Given the description of an element on the screen output the (x, y) to click on. 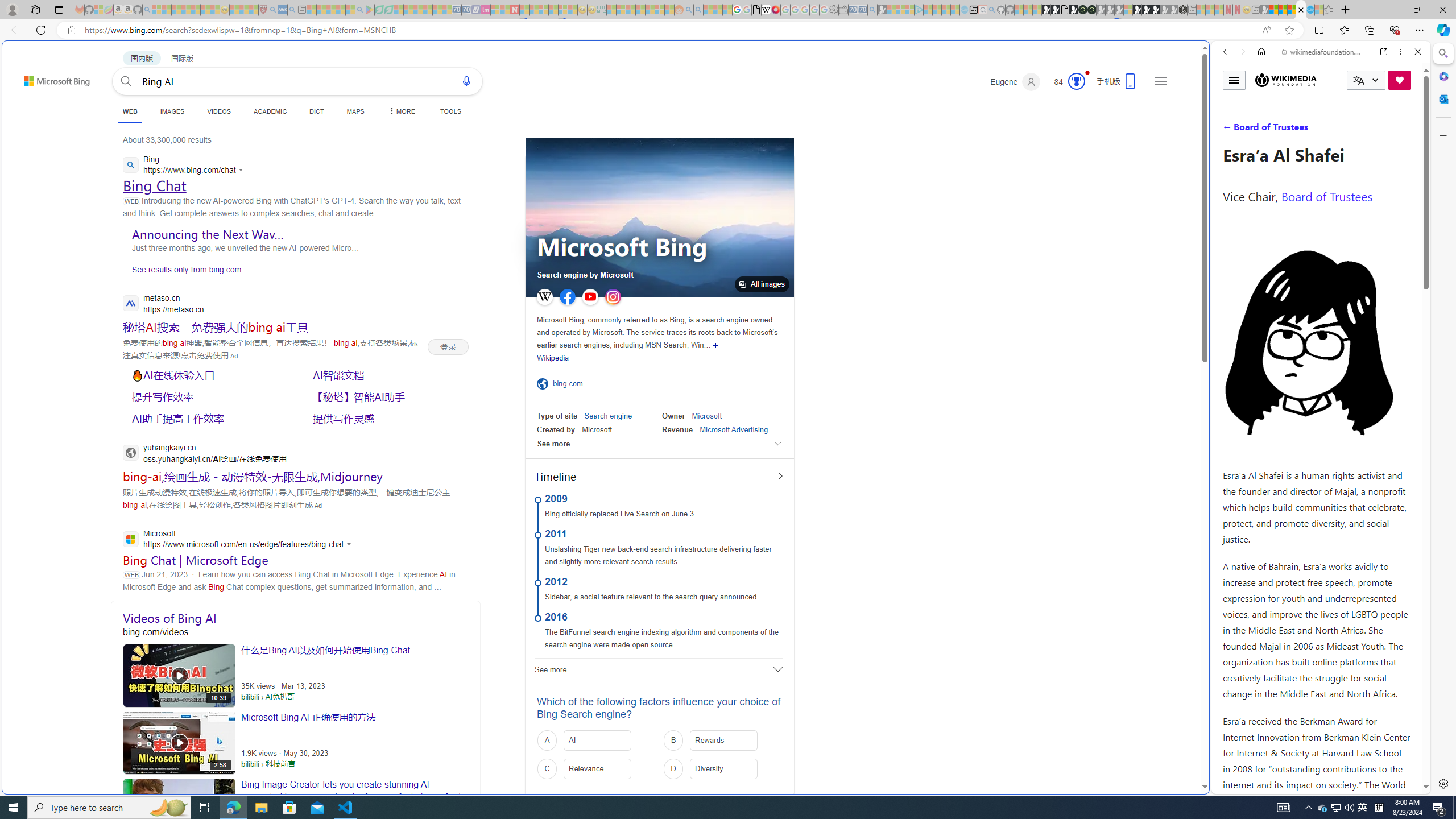
SERP,5519 (207, 395)
Home | Sky Blue Bikes - Sky Blue Bikes - Sleeping (964, 9)
